Given the description of an element on the screen output the (x, y) to click on. 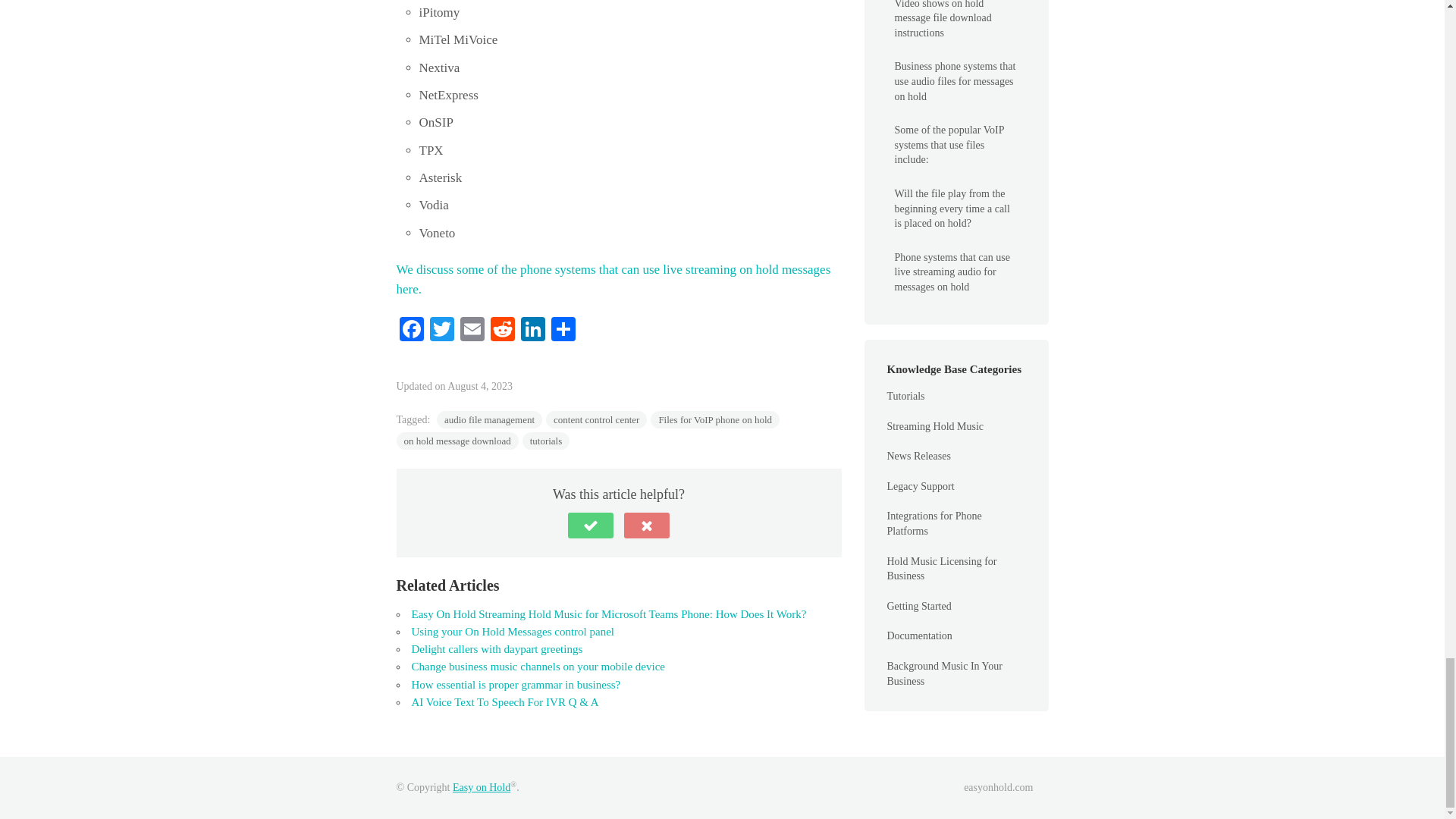
Email (471, 330)
on hold message download (457, 440)
Twitter (441, 330)
Files for VoIP phone on hold (714, 419)
Reddit (501, 330)
audio file management (488, 419)
Reddit (501, 330)
LinkedIn (531, 330)
Email (471, 330)
Facebook (411, 330)
